Given the description of an element on the screen output the (x, y) to click on. 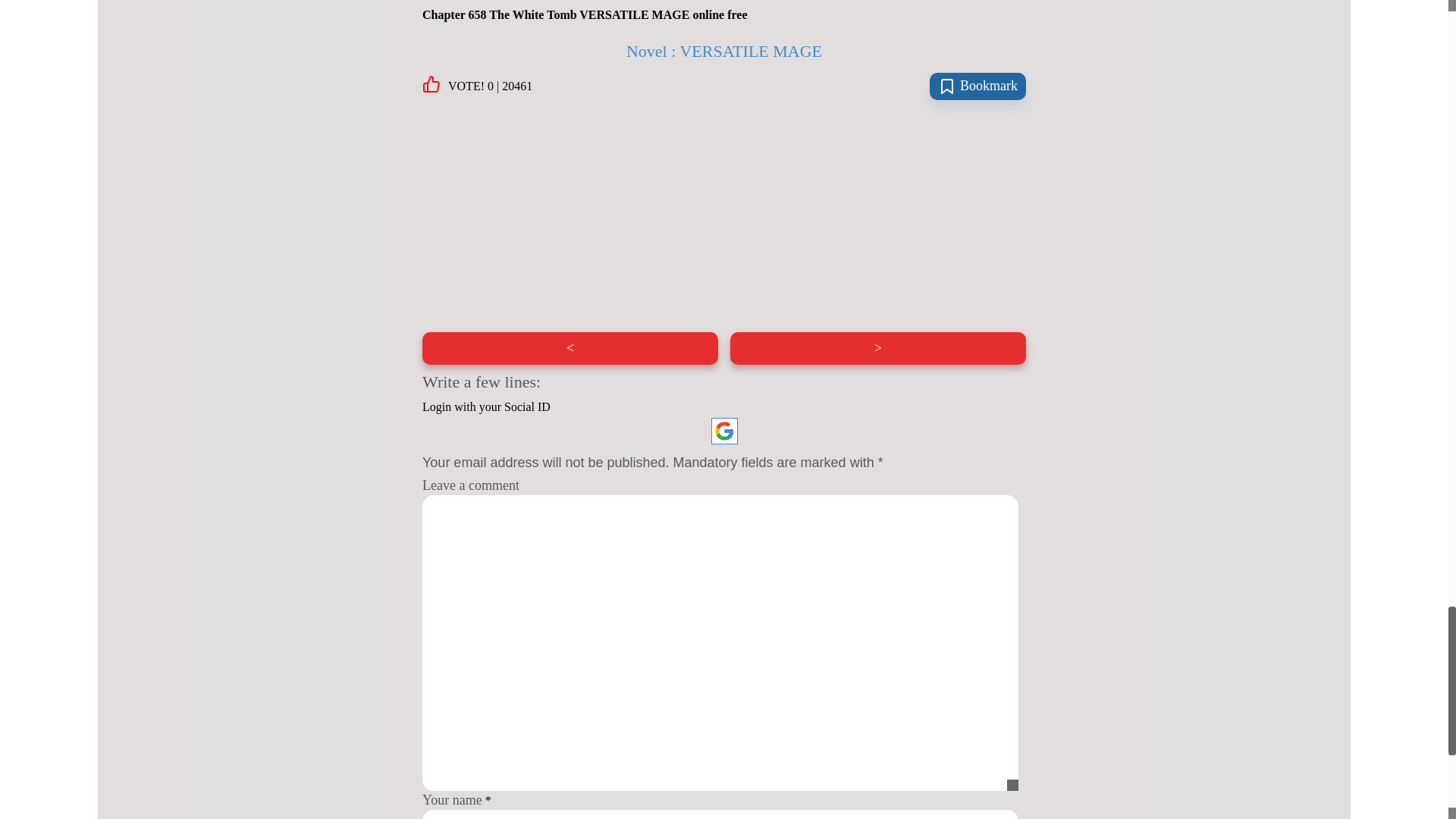
Login with Google (724, 430)
Novel : VERSATILE MAGE (724, 50)
Liked 20461 people - JOIN! (477, 85)
